Given the description of an element on the screen output the (x, y) to click on. 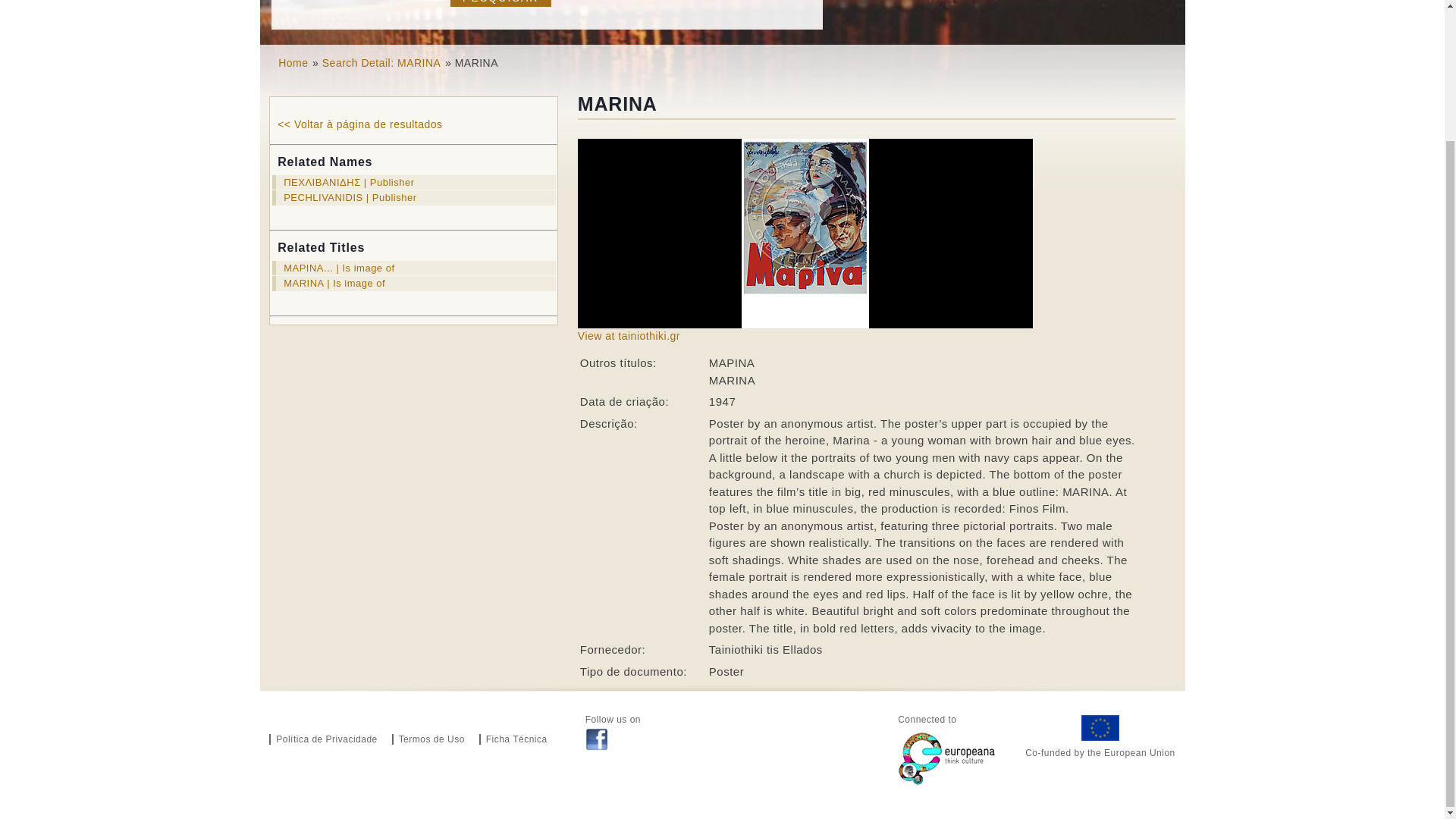
Home (292, 62)
Pesquisar (500, 3)
View at tainiothiki.gr (628, 336)
Pesquisar (500, 3)
Search Detail: MARINA (381, 62)
